Given the description of an element on the screen output the (x, y) to click on. 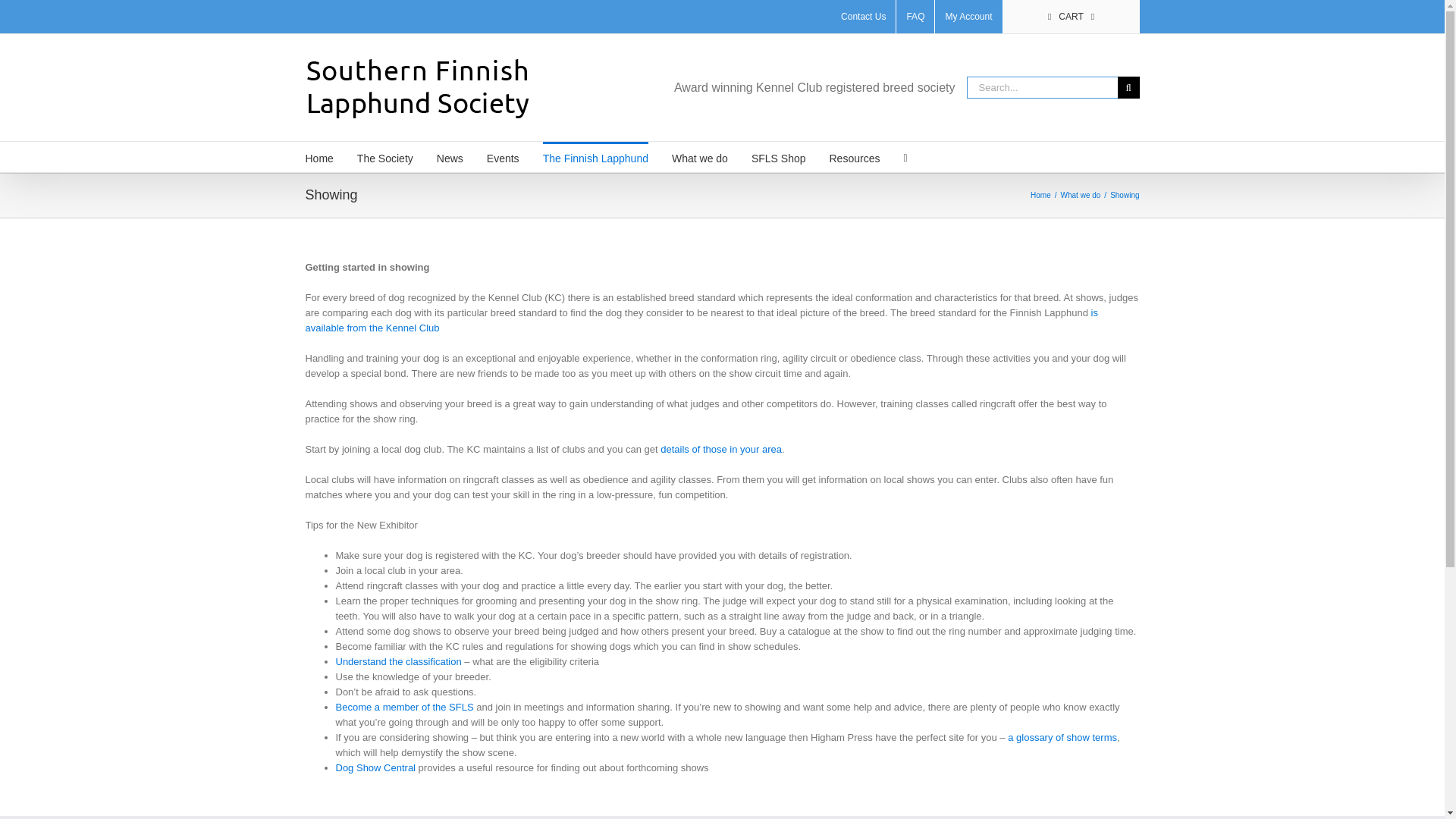
Log In (1024, 144)
Contact Us (863, 16)
CART (1070, 16)
Home (318, 156)
FAQ (915, 16)
Events (502, 156)
My Account (967, 16)
The Society (384, 156)
